Given the description of an element on the screen output the (x, y) to click on. 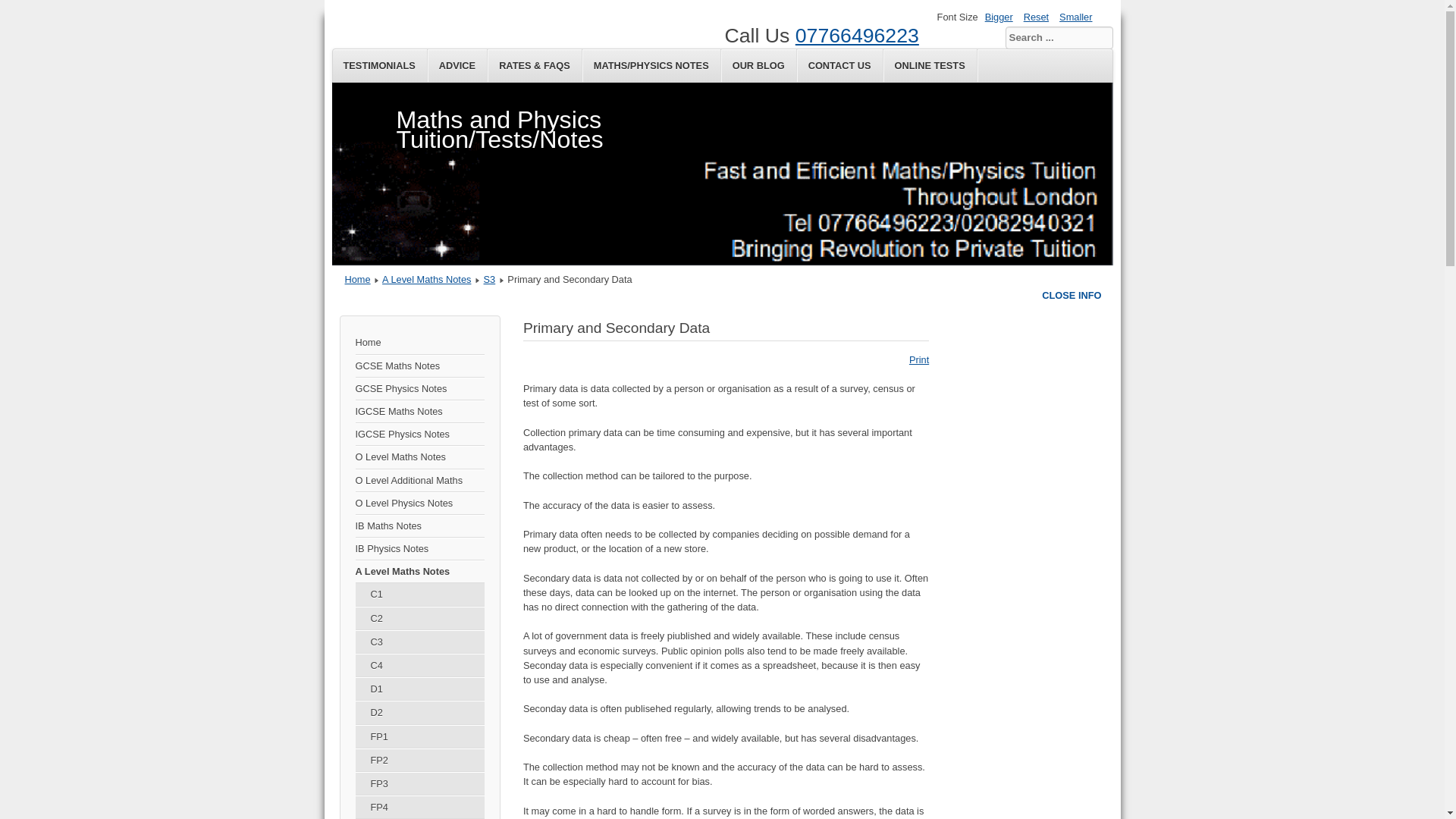
IB Physics Notes (419, 548)
S3 (489, 279)
IGCSE Physics Notes (419, 434)
C2 (419, 618)
Increase size (998, 16)
IB Maths Notes (419, 526)
D1 (419, 689)
ONLINE TESTS (929, 65)
Home (419, 342)
Smaller (1075, 16)
